Given the description of an element on the screen output the (x, y) to click on. 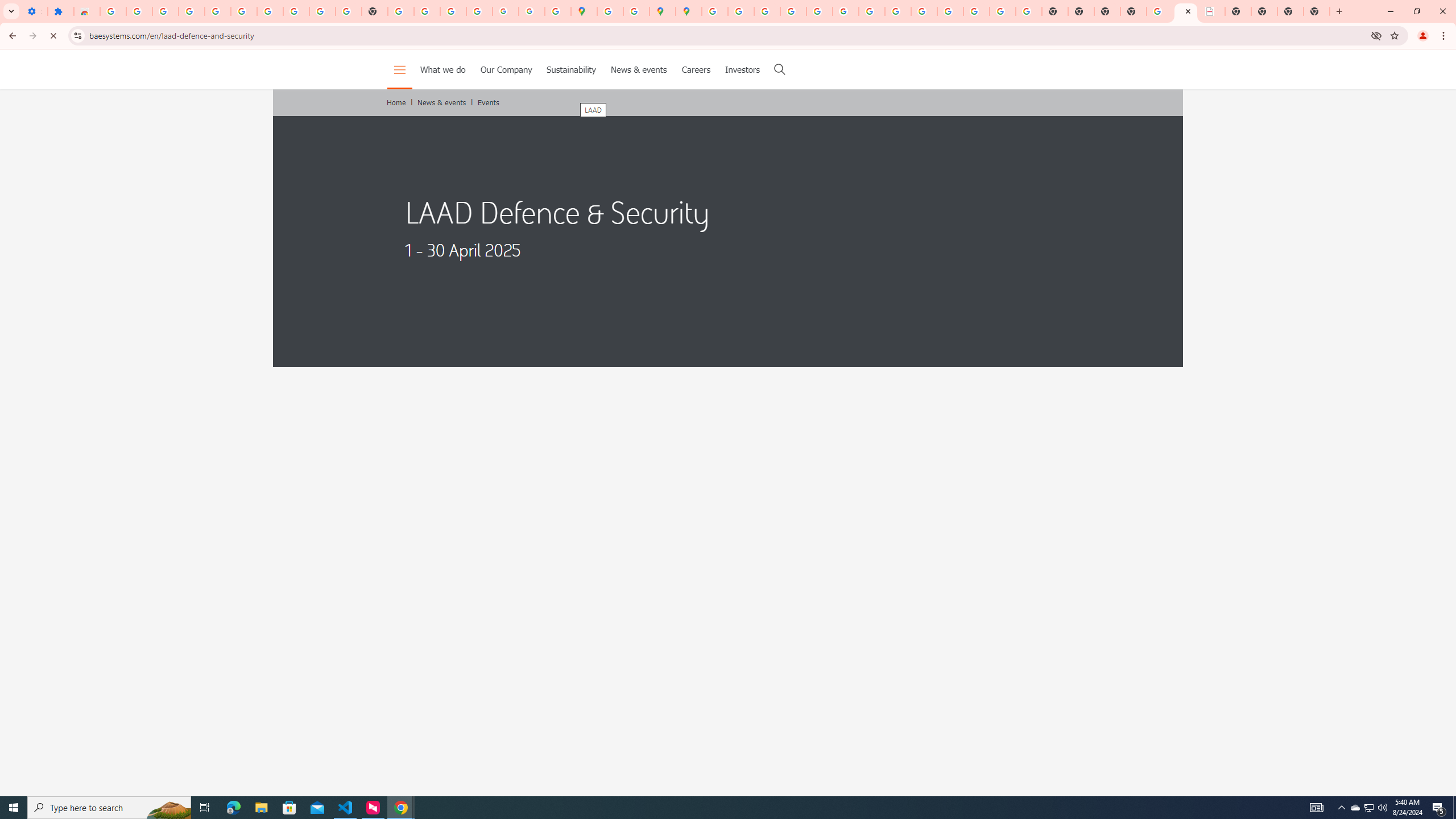
BAE Systems Brasil | BAE Systems (1211, 11)
https://scholar.google.com/ (400, 11)
Careers (695, 69)
